Given the description of an element on the screen output the (x, y) to click on. 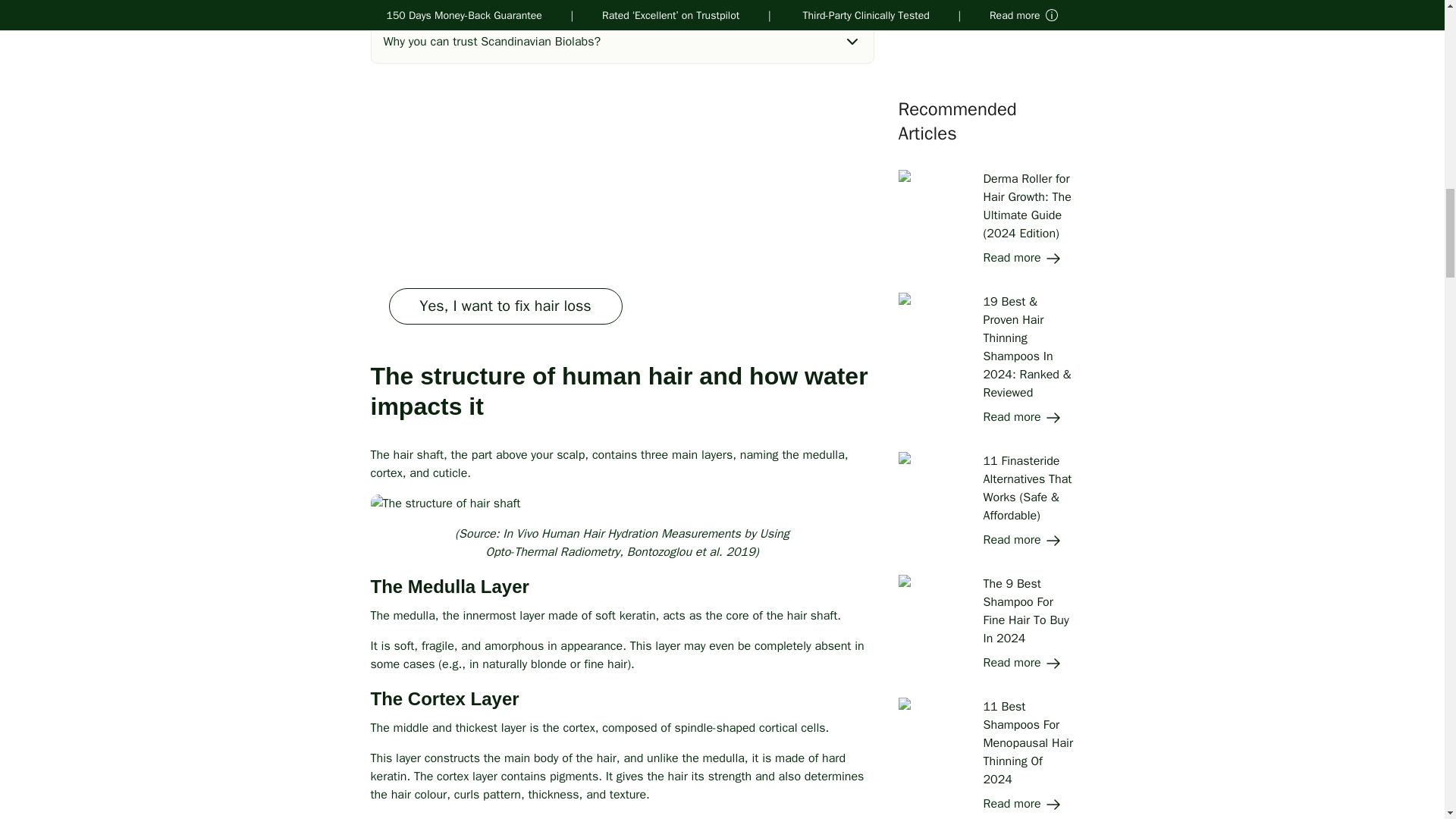
Yes, I want to fix hair loss (504, 306)
